Given the description of an element on the screen output the (x, y) to click on. 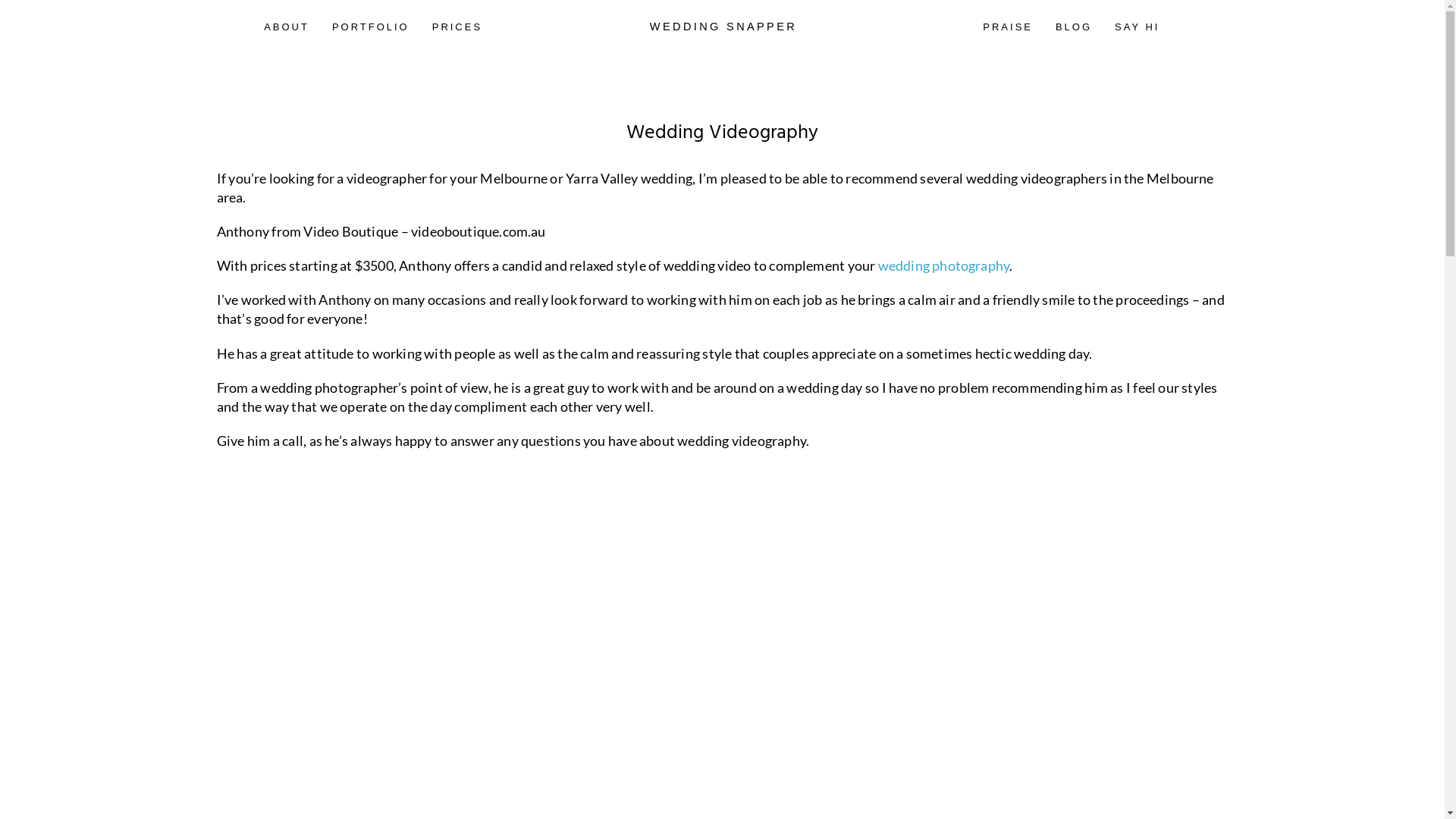
PRICES Element type: text (457, 27)
ABOUT Element type: text (286, 27)
PORTFOLIO Element type: text (370, 27)
BLOG Element type: text (1073, 27)
wedding photography Element type: text (944, 265)
WEDDING SNAPPER Element type: text (721, 28)
SAY HI Element type: text (1136, 27)
PRAISE Element type: text (1007, 27)
